Given the description of an element on the screen output the (x, y) to click on. 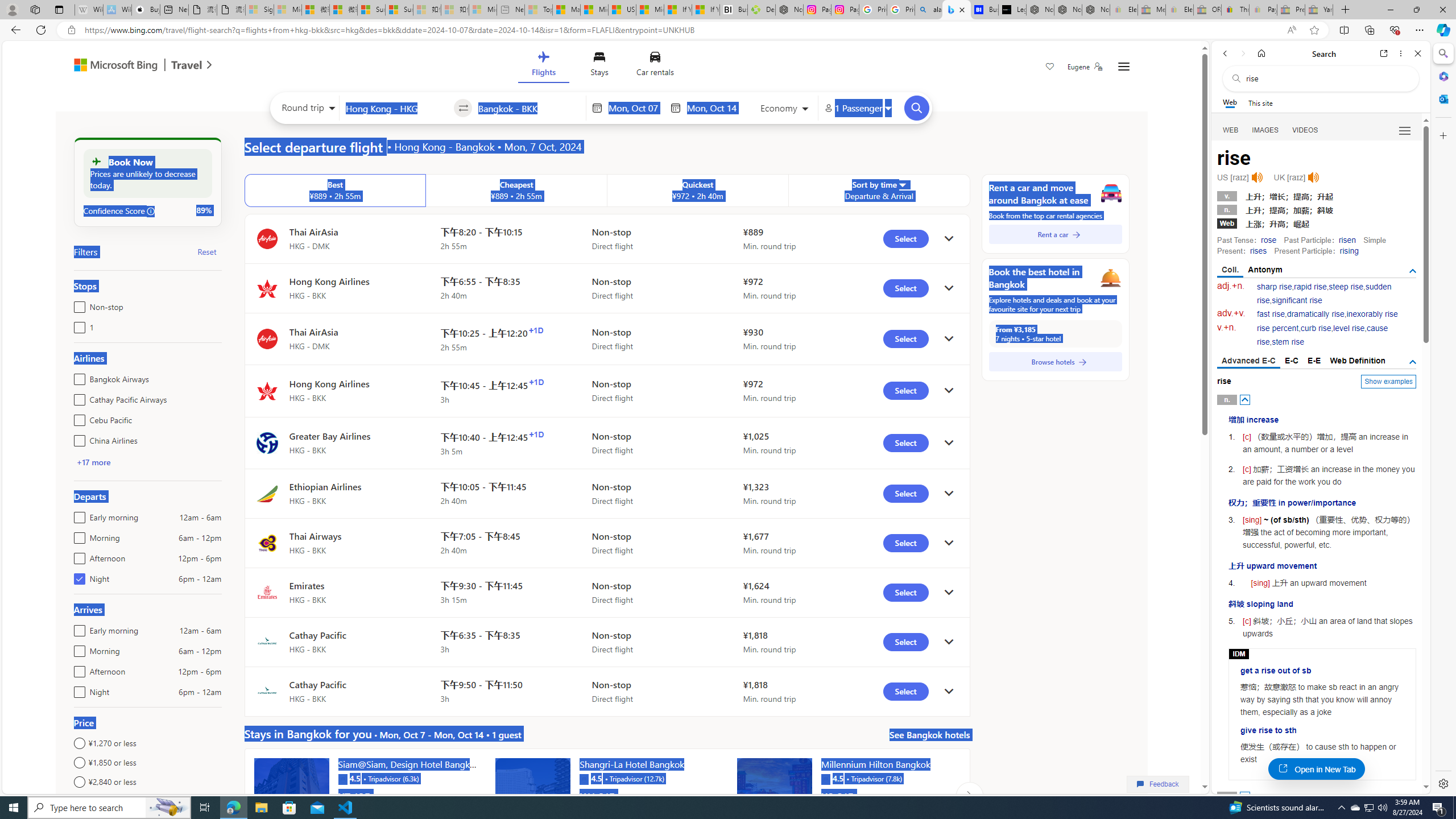
Coll. (1230, 270)
E-C (1291, 360)
1 Passenger (857, 108)
Class: autosuggest-container full-height no-y-padding (528, 107)
Swap source and destination (463, 108)
cause rise (1322, 335)
